Given the description of an element on the screen output the (x, y) to click on. 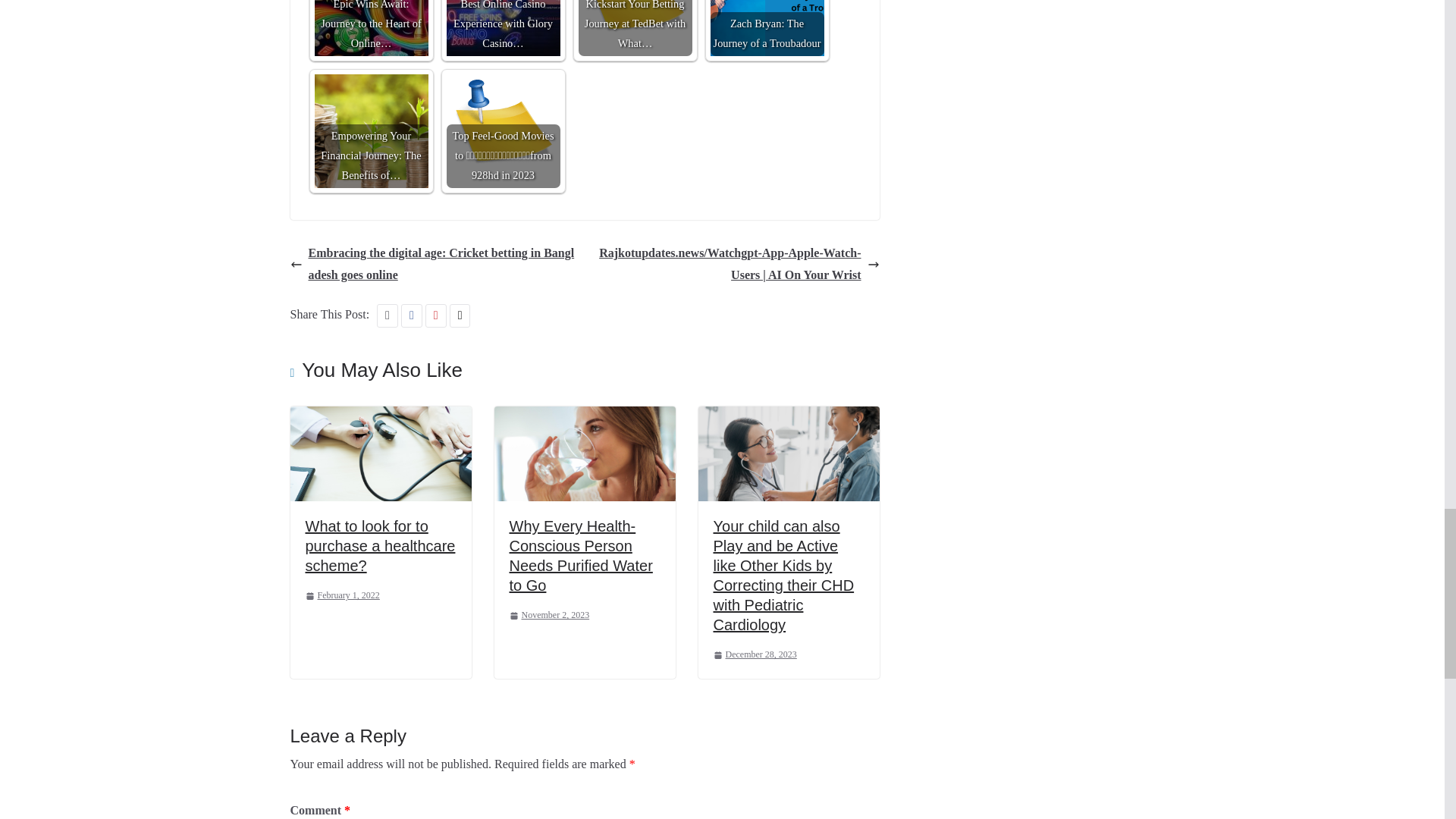
What to look for to purchase a healthcare scheme? (379, 545)
Zach Bryan: The Journey of a Troubadour (767, 28)
